Given the description of an element on the screen output the (x, y) to click on. 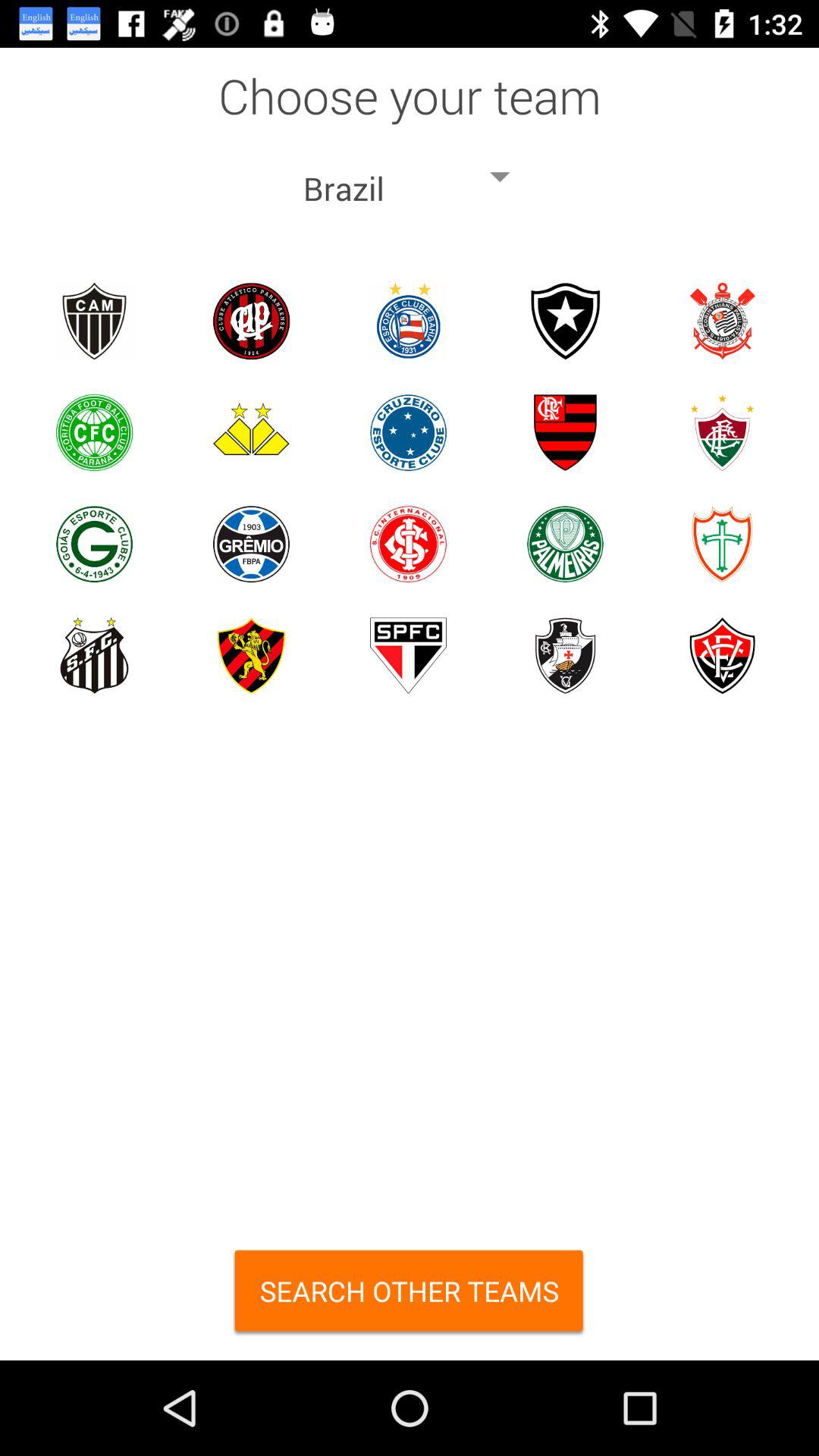
chose option (251, 321)
